Given the description of an element on the screen output the (x, y) to click on. 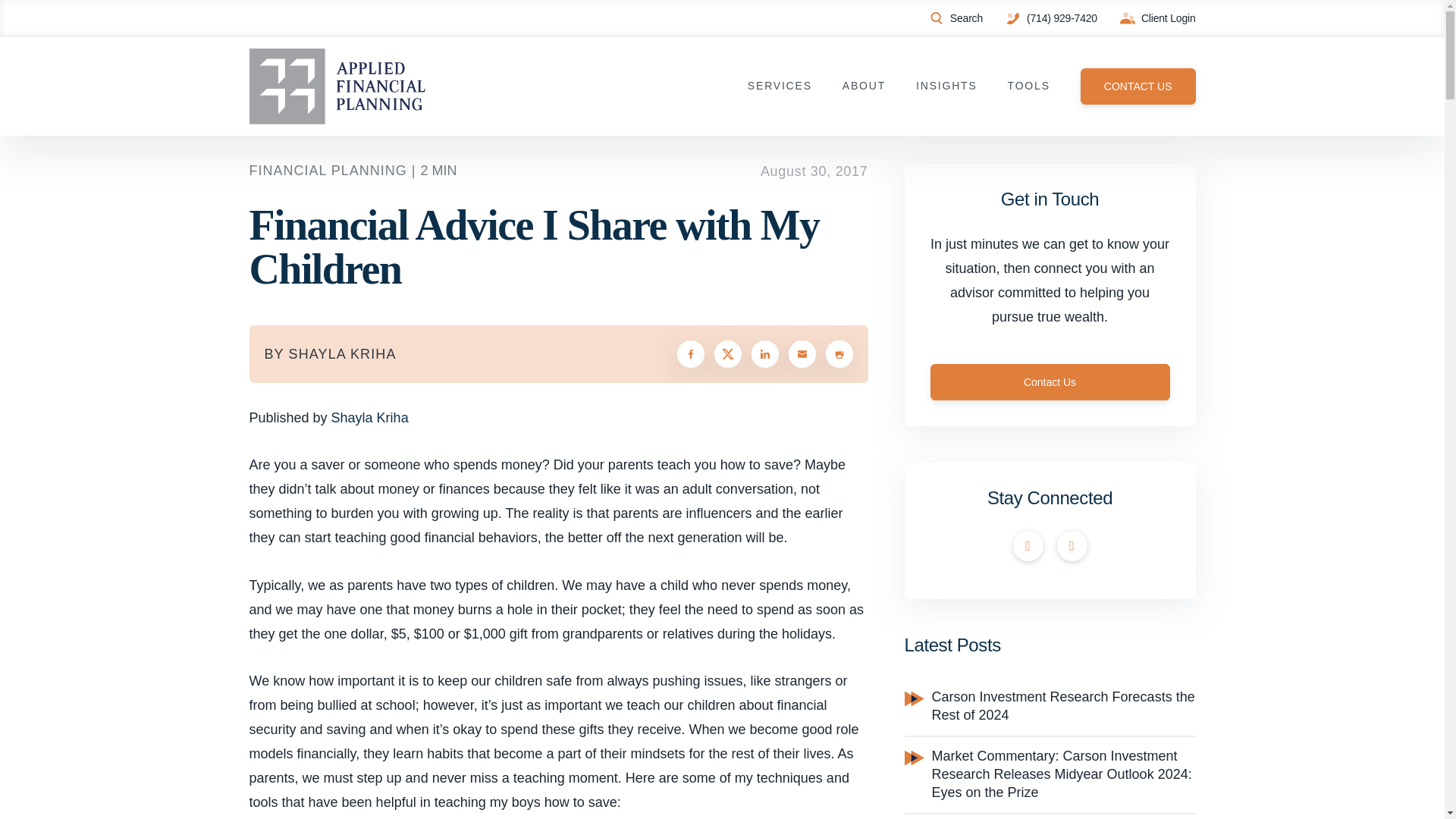
CONTACT US (1137, 85)
Client Login (1157, 18)
Search (955, 18)
TOOLS (1028, 86)
ABOUT (864, 86)
INSIGHTS (945, 86)
SERVICES (780, 86)
